Given the description of an element on the screen output the (x, y) to click on. 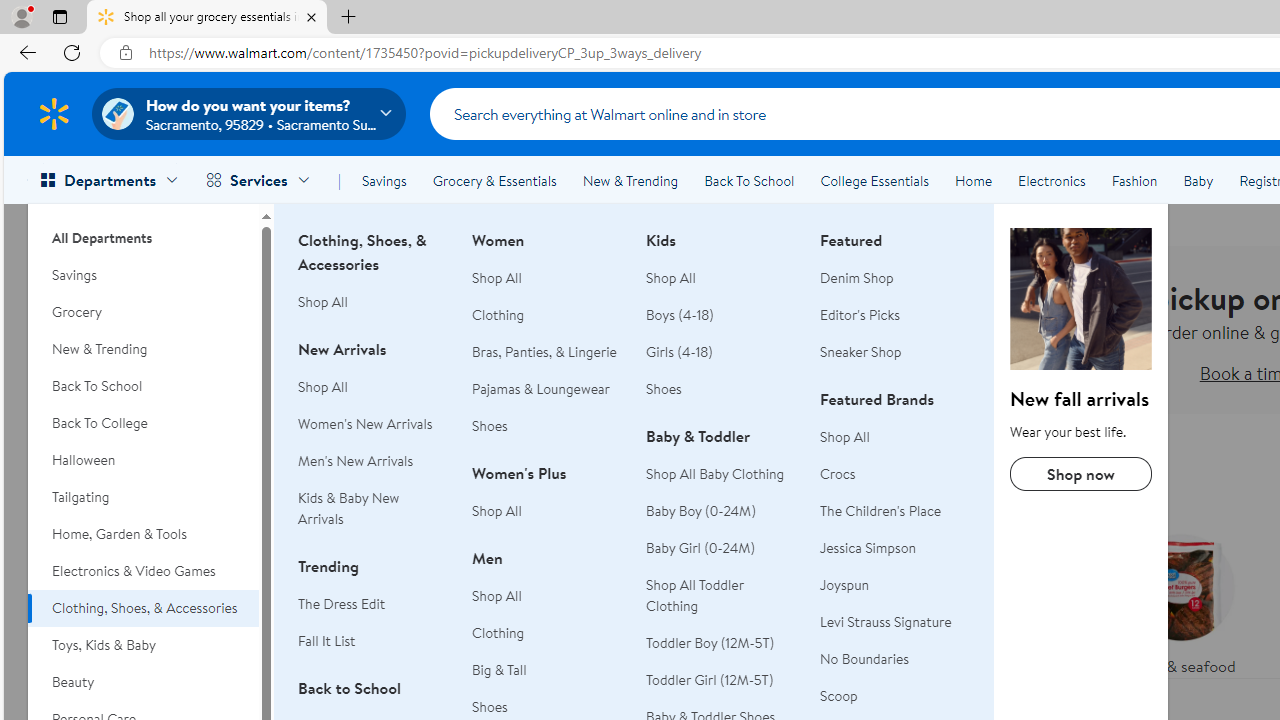
Sneaker Shop (895, 352)
No Boundaries (864, 658)
Clothing, Shoes, & Accessories  (1080, 299)
No Boundaries (895, 659)
Grocery (143, 312)
Toys, Kids & Baby (143, 645)
Toddler Girl (12M-5T) (710, 679)
New & Trending (630, 180)
Levi Strauss Signature (886, 622)
Grocery (143, 312)
Grocery & Essentials (493, 180)
Kids & Baby New Arrivals (373, 508)
Tailgating (143, 497)
Shop now (1080, 474)
